Given the description of an element on the screen output the (x, y) to click on. 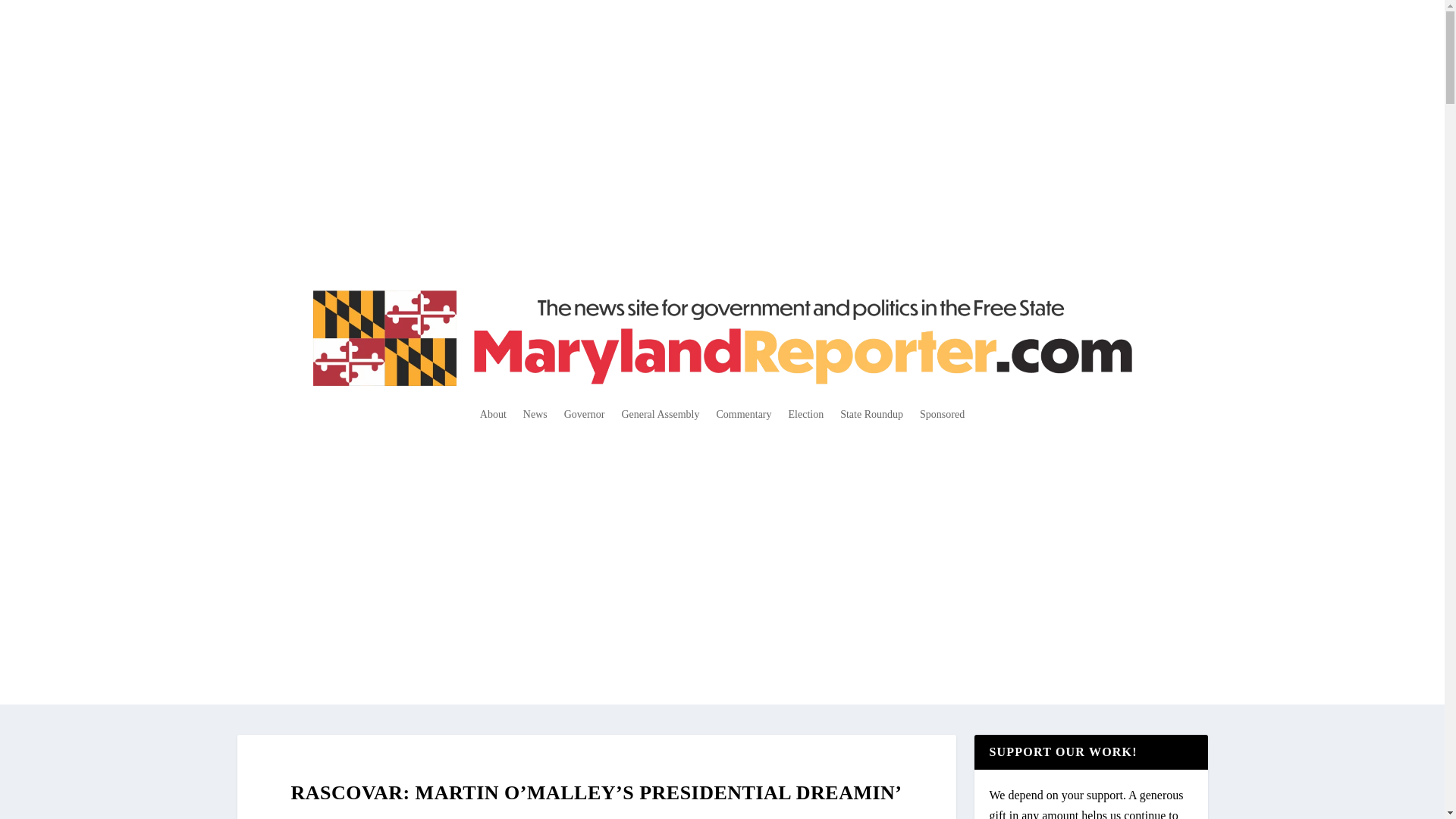
Posts by Maryland Reporter (508, 818)
General Assembly (659, 414)
News (653, 818)
Search (34, 14)
Rating: 0.00 (721, 816)
Maryland Reporter (508, 818)
State Roundup (871, 414)
Search (29, 15)
Commentary (743, 414)
